Given the description of an element on the screen output the (x, y) to click on. 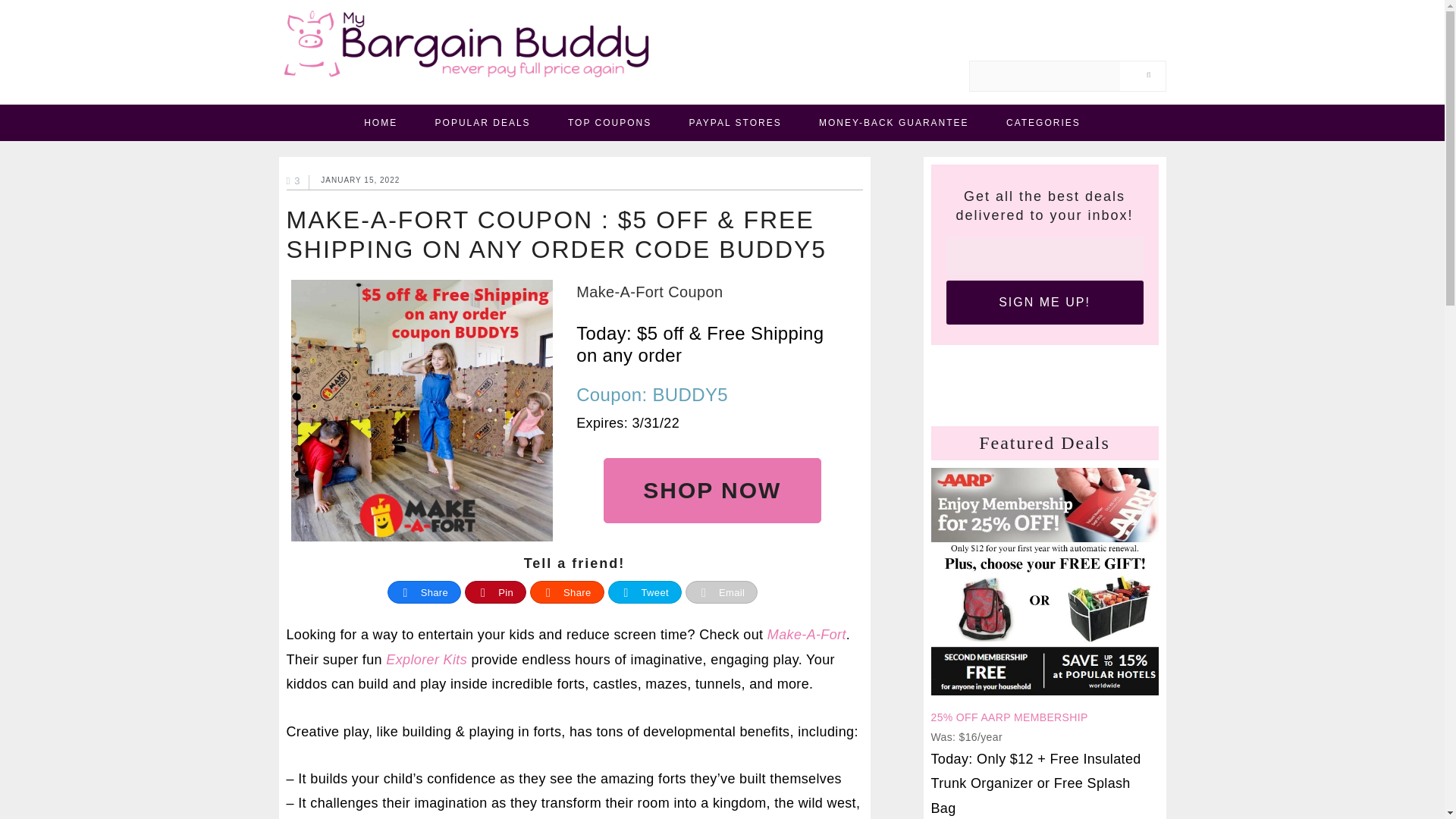
SHOP NOW (712, 490)
Share (424, 592)
CATEGORIES (1043, 122)
Pin (495, 592)
Make-A-Fort (806, 634)
Sign Me Up! (1044, 302)
Explorer Kits (426, 659)
MONEY-BACK GUARANTEE (893, 122)
mybargainbuddy.com (468, 51)
PAYPAL STORES (735, 122)
POPULAR DEALS (482, 122)
HOME (380, 122)
Share (567, 592)
Email (721, 592)
Make-A-Fort Coupon (711, 291)
